Given the description of an element on the screen output the (x, y) to click on. 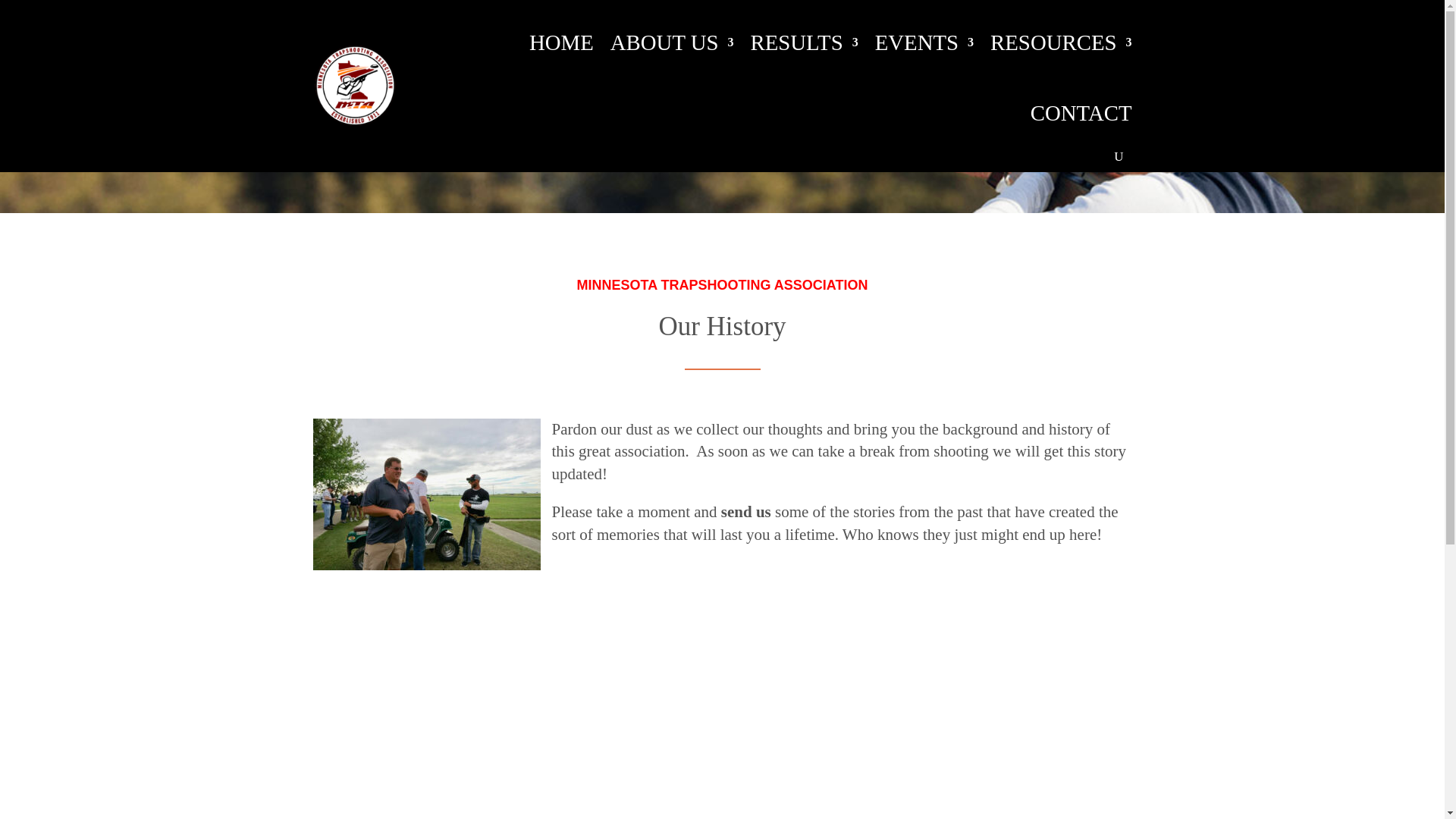
EVENTS (924, 42)
HOME (561, 42)
RESOURCES (1060, 42)
ABOUT US (671, 42)
RESULTS (805, 42)
